Given the description of an element on the screen output the (x, y) to click on. 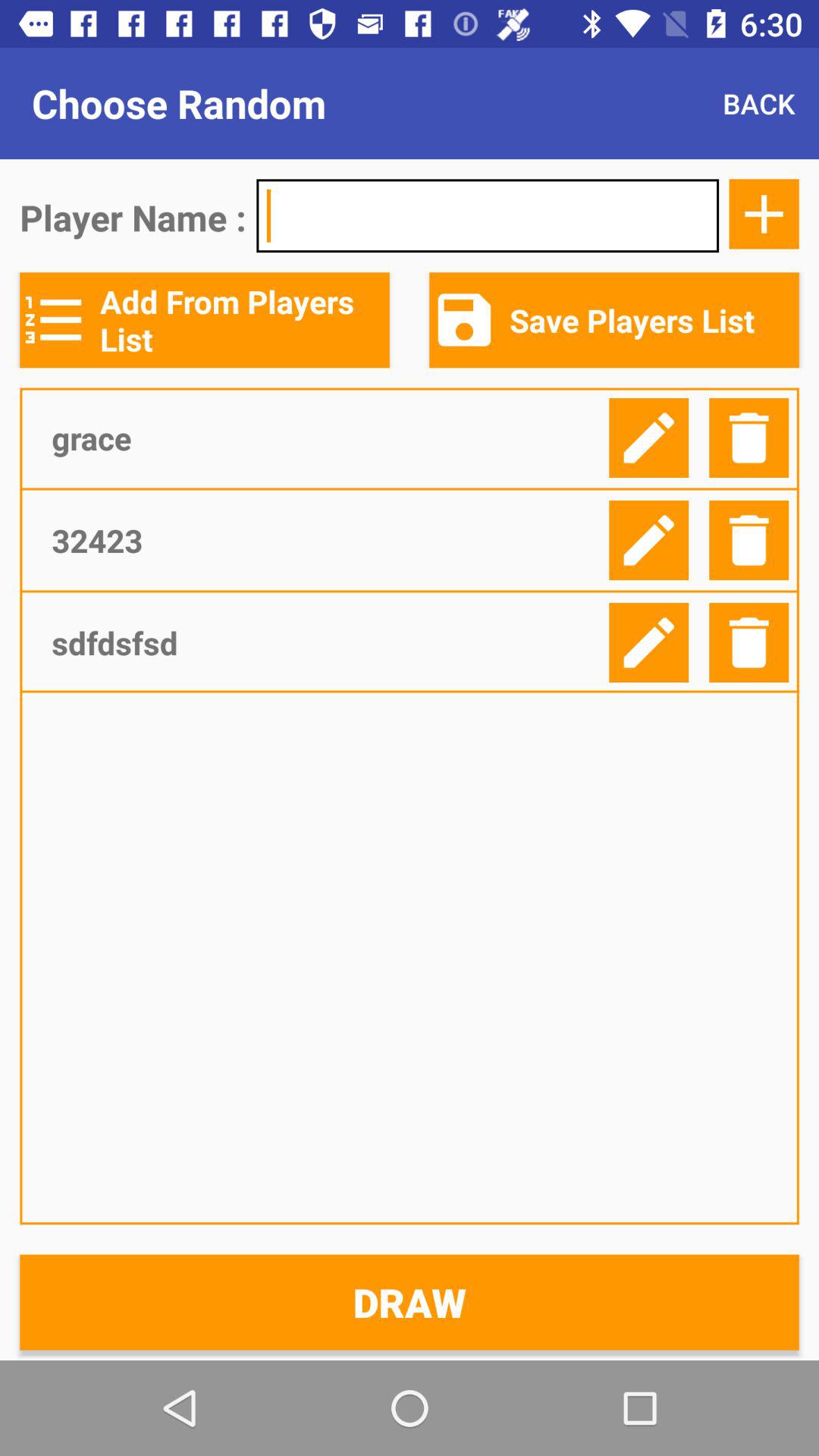
edit player (648, 540)
